Given the description of an element on the screen output the (x, y) to click on. 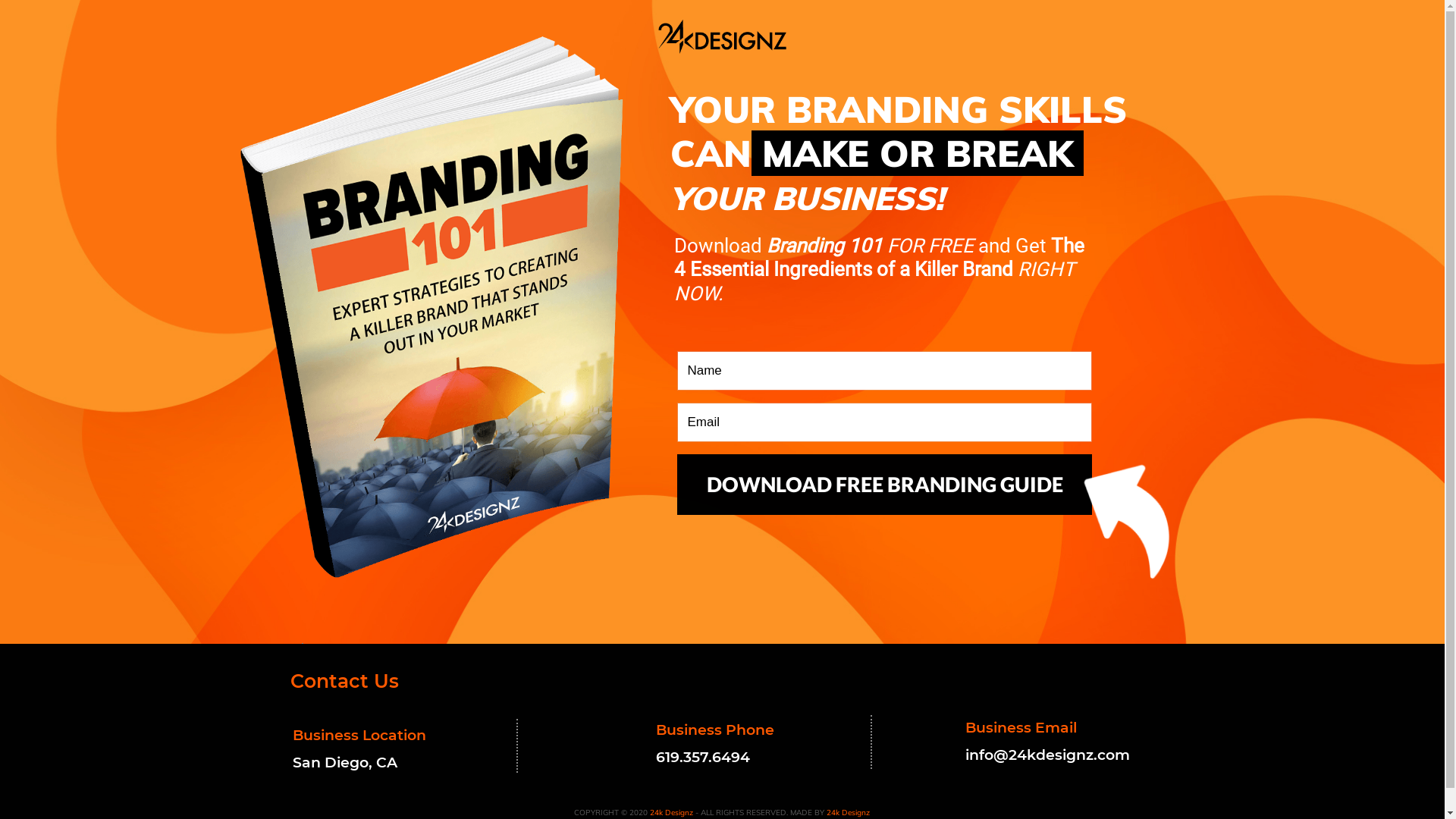
DOWNLOAD FREE BRANDING GUIDE Element type: text (884, 484)
